Given the description of an element on the screen output the (x, y) to click on. 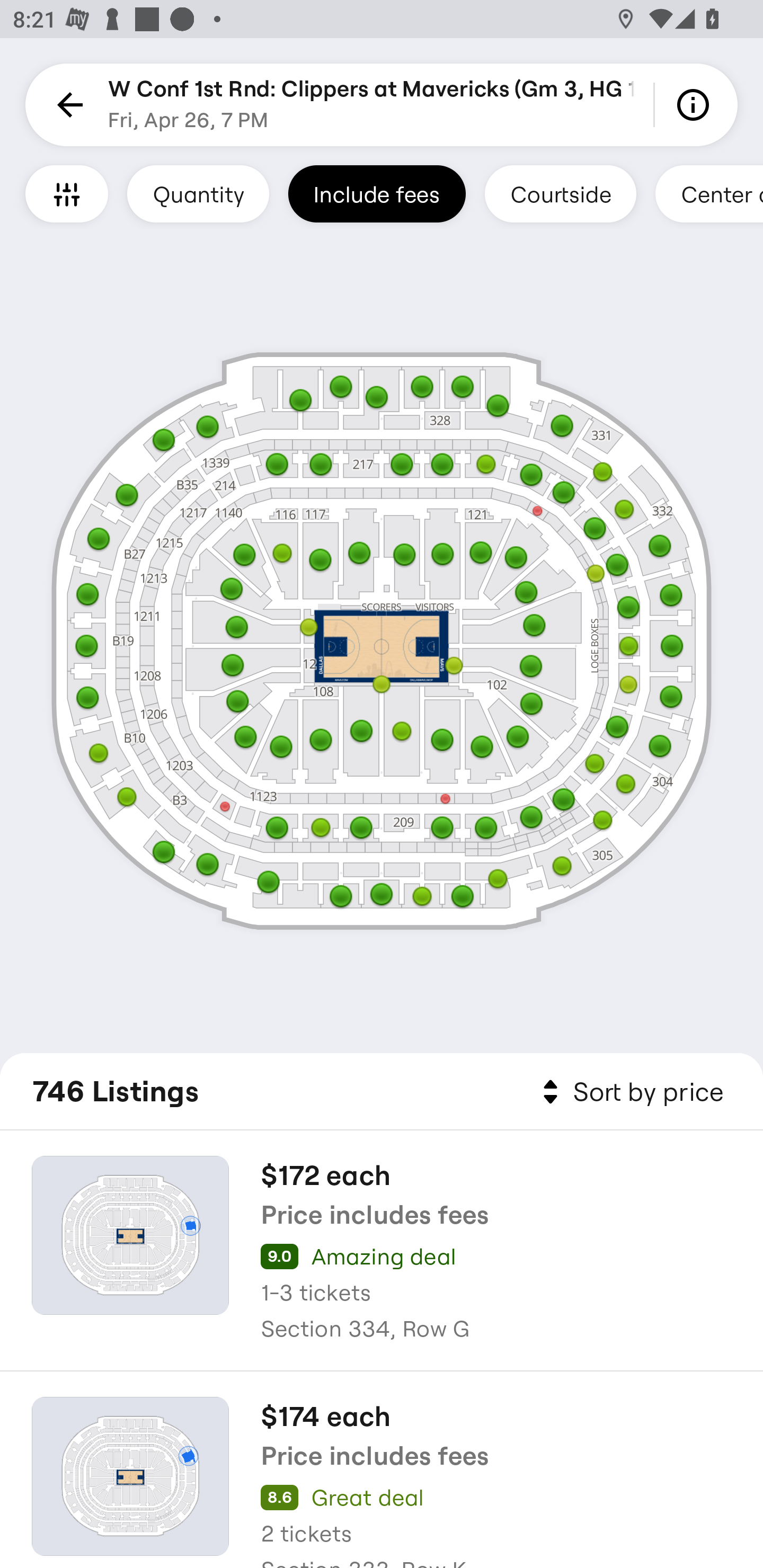
Back (66, 104)
Info (695, 104)
Filters and Accessible Seating (66, 193)
Quantity (198, 193)
Include fees (376, 193)
Courtside (560, 193)
Center court (709, 193)
Sort by price (629, 1091)
